Given the description of an element on the screen output the (x, y) to click on. 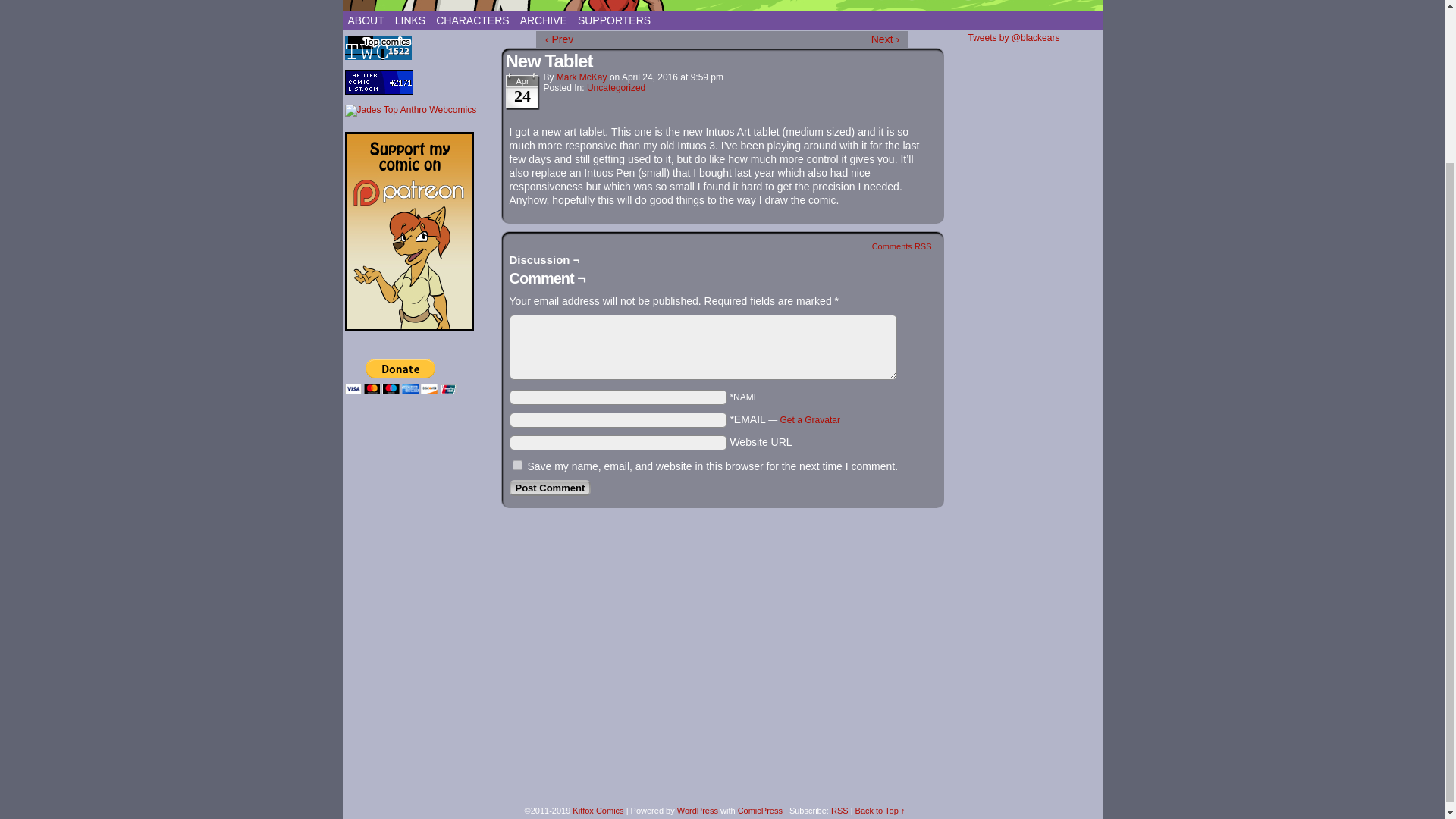
Kitfox Comics (597, 809)
SUPPORTERS (614, 20)
Get a Gravatar (810, 419)
Vote for Kitfox Comics on TopWebComics! (376, 56)
Kitfox Comics (729, 9)
Advertisement (419, 673)
Post Comment (550, 487)
ABOUT (366, 20)
Comments RSS (901, 245)
yes (517, 465)
Uncategorized (615, 87)
RSS (839, 809)
Mark McKay (581, 77)
ComicPress (760, 809)
ARCHIVE (543, 20)
